Given the description of an element on the screen output the (x, y) to click on. 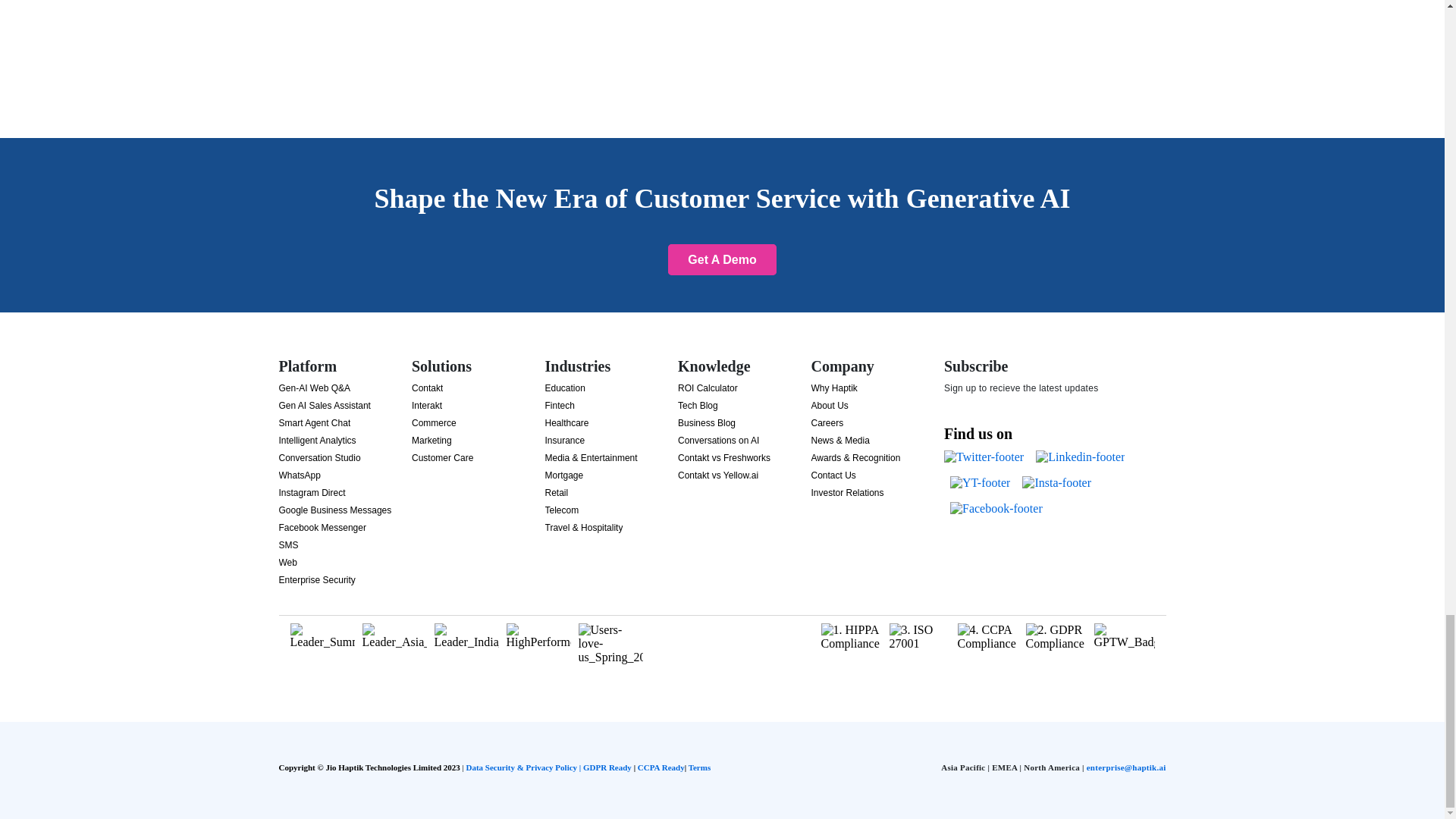
Gen AI Sales Assistant (325, 405)
Web (288, 562)
Smart Agent Chat (314, 422)
WhatsApp (299, 475)
Facebook Messenger (322, 527)
Intelligent Analytics (317, 439)
Google Business Messages (335, 510)
SMS (288, 544)
Enterprise Security (317, 579)
Get A Demo (722, 259)
